Given the description of an element on the screen output the (x, y) to click on. 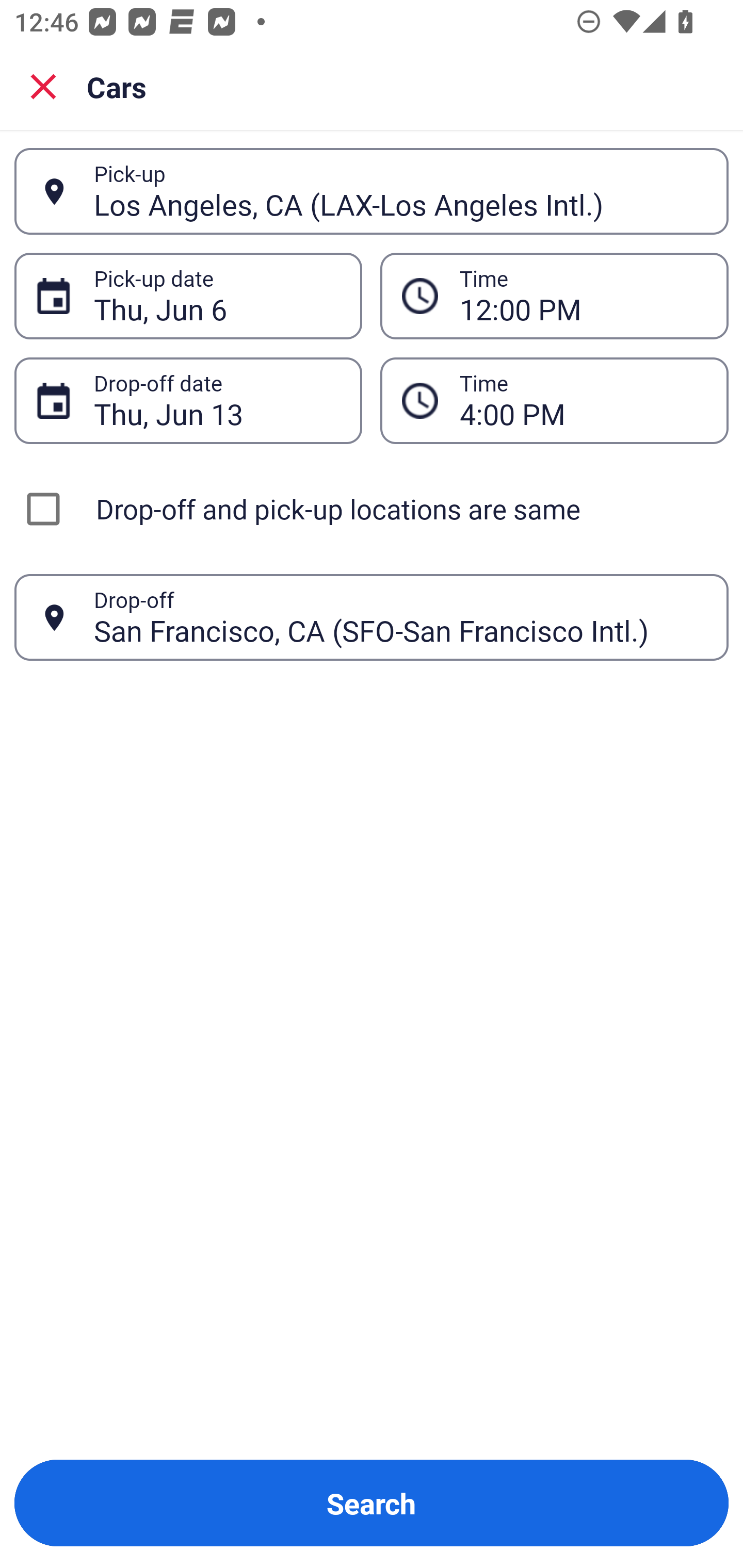
Close search screen (43, 86)
Los Angeles, CA (LAX-Los Angeles Intl.) Pick-up (371, 191)
Los Angeles, CA (LAX-Los Angeles Intl.) (399, 191)
Thu, Jun 6 Pick-up date (188, 295)
12:00 PM (554, 295)
Thu, Jun 6 (216, 296)
12:00 PM (582, 296)
Thu, Jun 13 Drop-off date (188, 400)
4:00 PM (554, 400)
Thu, Jun 13 (216, 400)
4:00 PM (582, 400)
Drop-off and pick-up locations are same (371, 508)
San Francisco, CA (SFO-San Francisco Intl.) (399, 616)
Search Button Search (371, 1502)
